Given the description of an element on the screen output the (x, y) to click on. 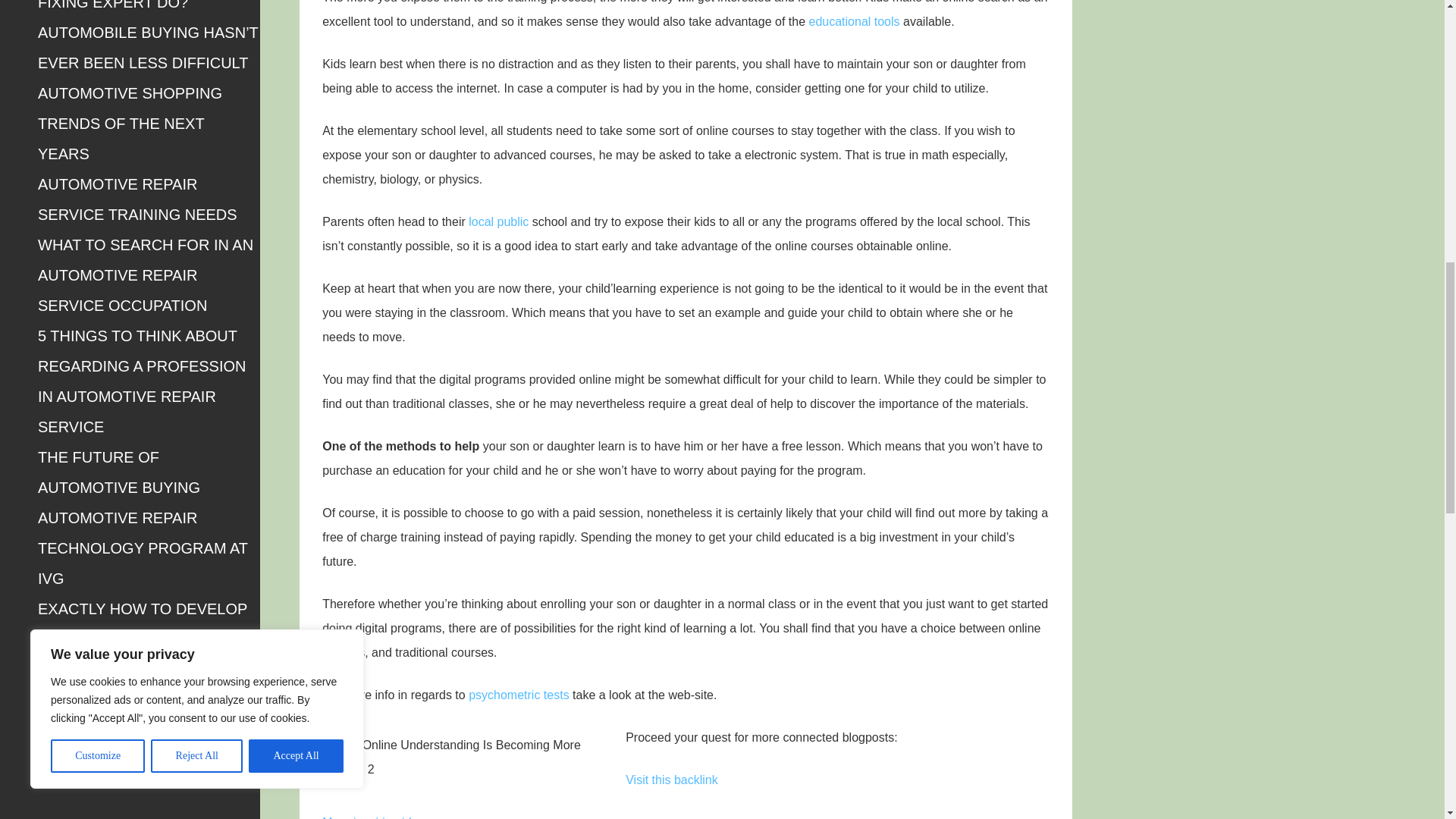
local public (498, 221)
educational tools (853, 21)
More inspiring ideas (375, 817)
psychometric tests (518, 694)
Visit this backlink (671, 779)
